Given the description of an element on the screen output the (x, y) to click on. 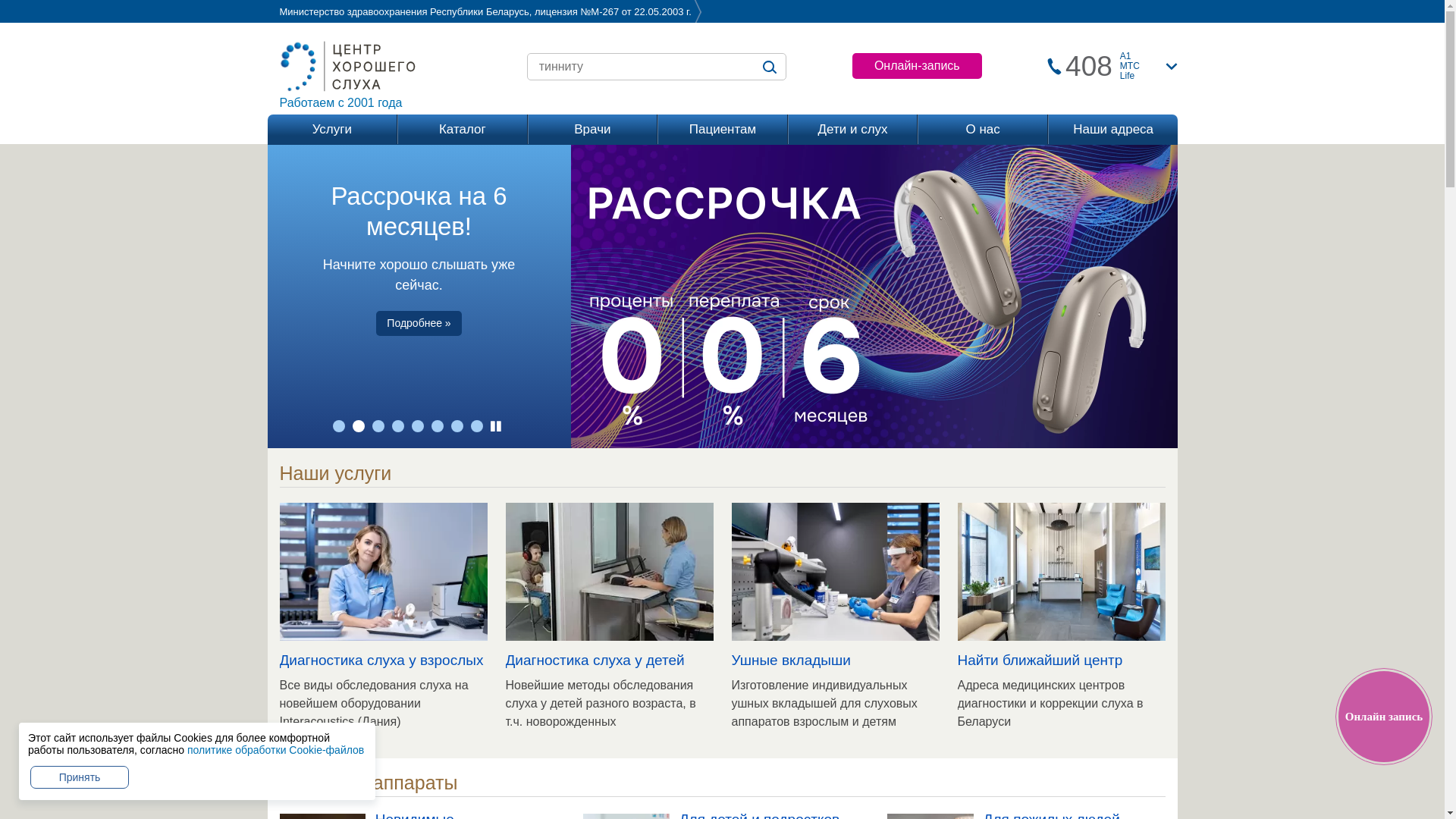
408 Element type: text (1088, 66)
